Given the description of an element on the screen output the (x, y) to click on. 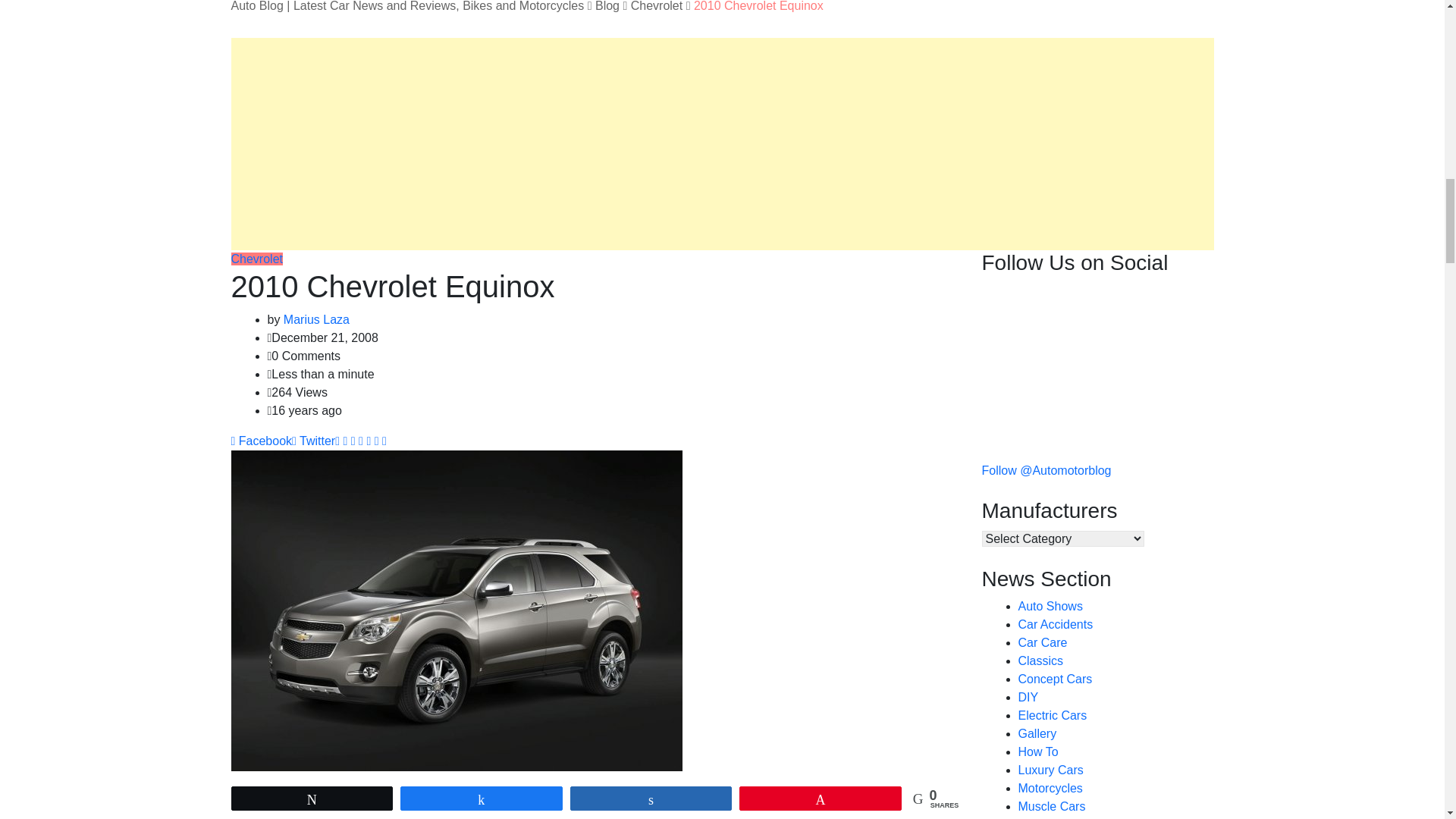
Posts by Marius Laza (316, 318)
Go to the Chevrolet Category archives. (656, 6)
Go to Blog. (607, 6)
